Given the description of an element on the screen output the (x, y) to click on. 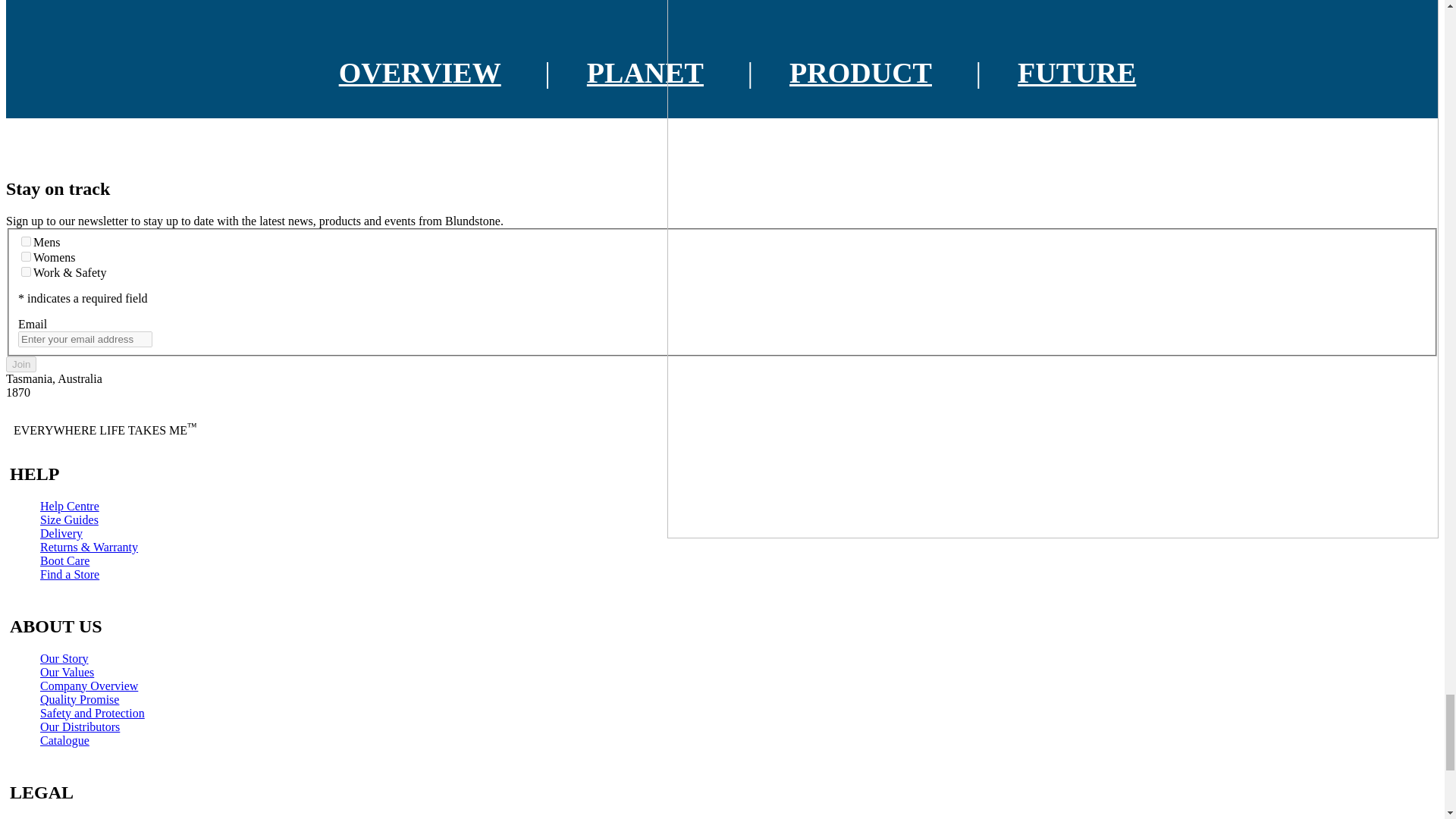
on (25, 256)
on (25, 241)
on (25, 271)
